Given the description of an element on the screen output the (x, y) to click on. 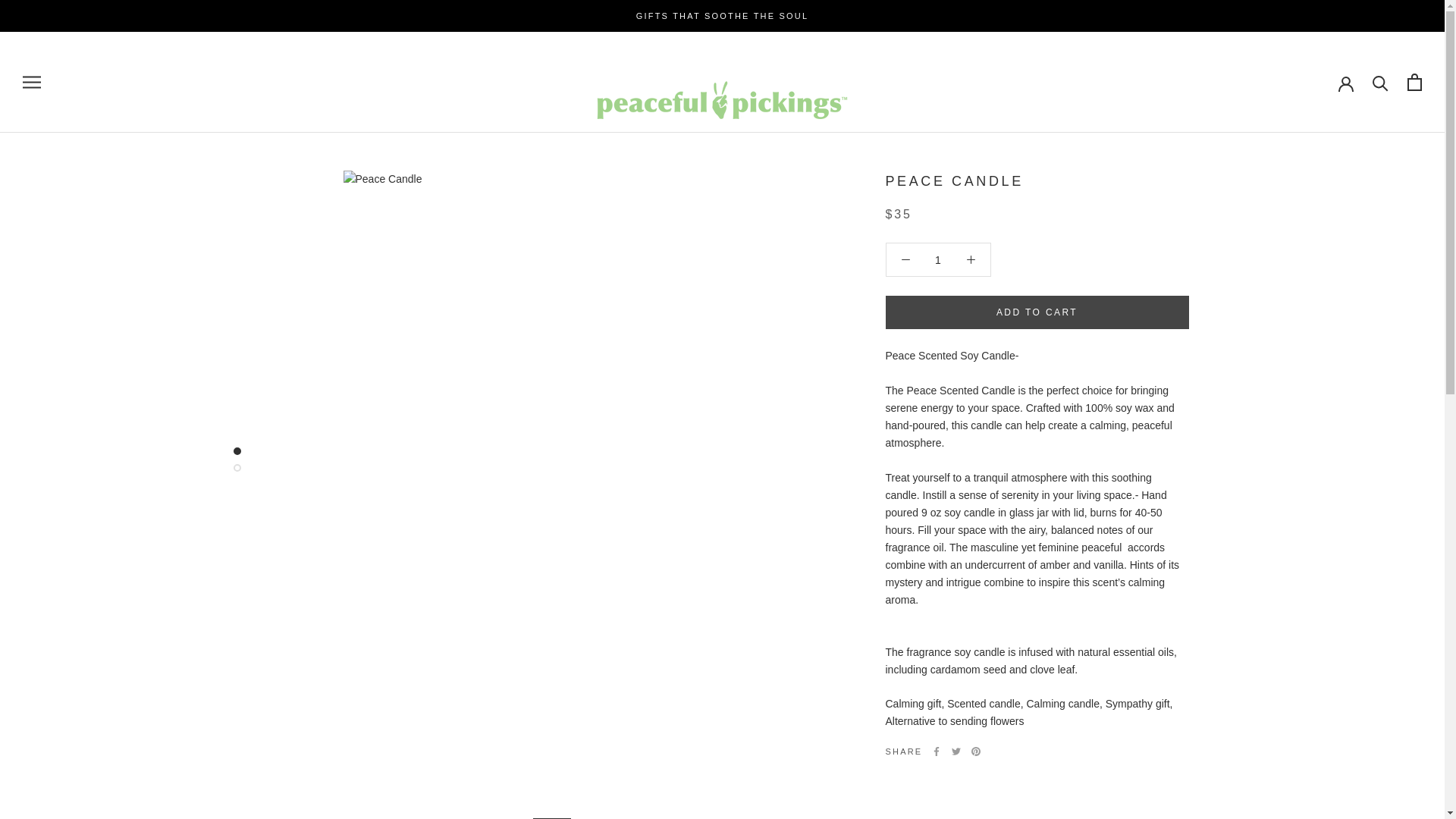
1 (938, 259)
GIFTS THAT SOOTHE THE SOUL (722, 15)
ADD TO CART (1037, 312)
